Given the description of an element on the screen output the (x, y) to click on. 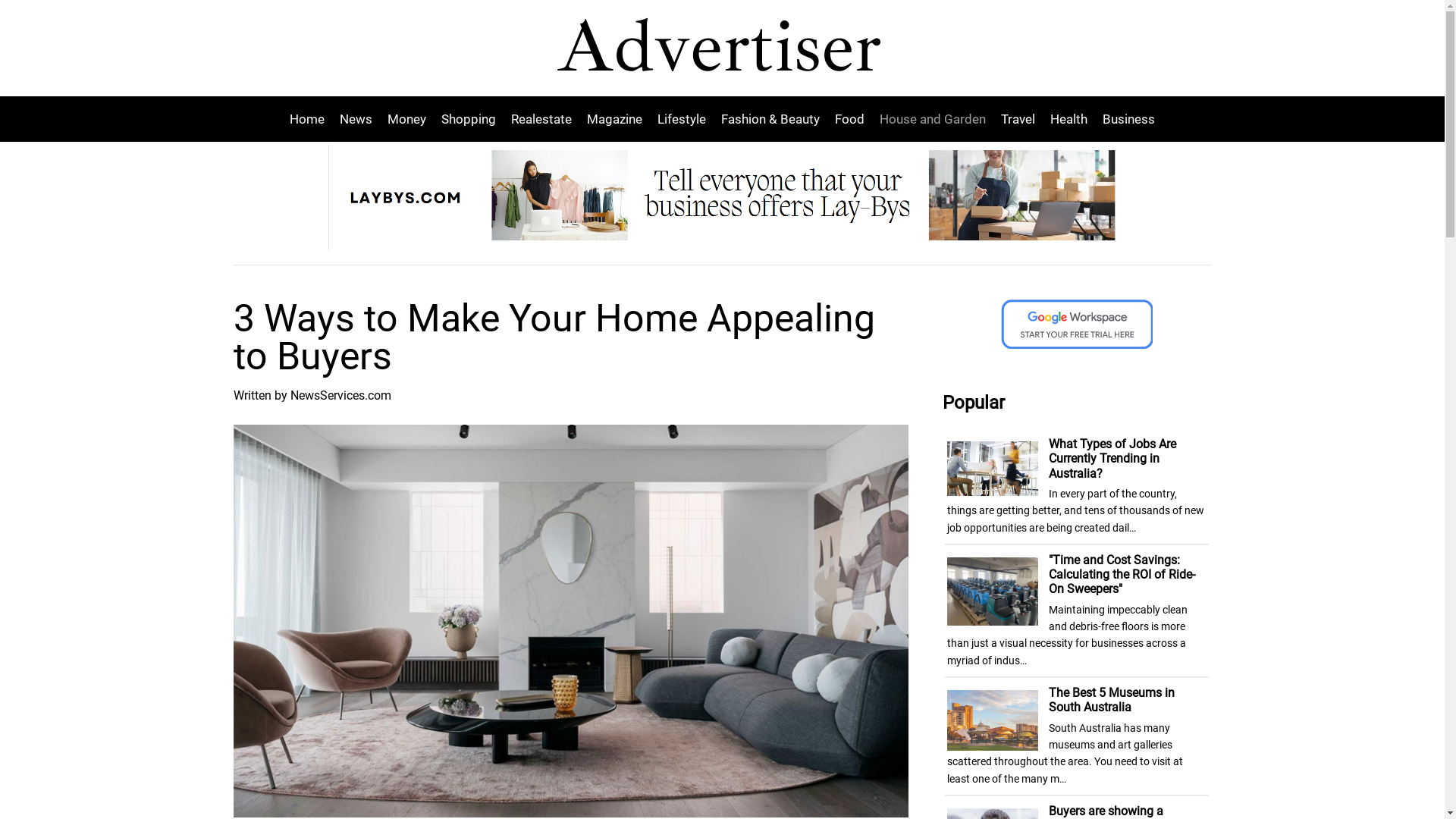
Realestate Element type: text (541, 118)
Home Element type: text (310, 118)
Shopping Element type: text (468, 118)
The Best 5 Museums in South Australia Element type: text (1111, 699)
Travel Element type: text (1017, 118)
Money Element type: text (406, 118)
Health Element type: text (1068, 118)
What Types of Jobs Are Currently Trending in Australia? Element type: text (1112, 458)
Magazine Element type: text (614, 118)
Fashion & Beauty Element type: text (770, 118)
Business Element type: text (1124, 118)
House and Garden Element type: text (932, 118)
Food Element type: text (849, 118)
Lifestyle Element type: text (681, 118)
News Element type: text (355, 118)
